Given the description of an element on the screen output the (x, y) to click on. 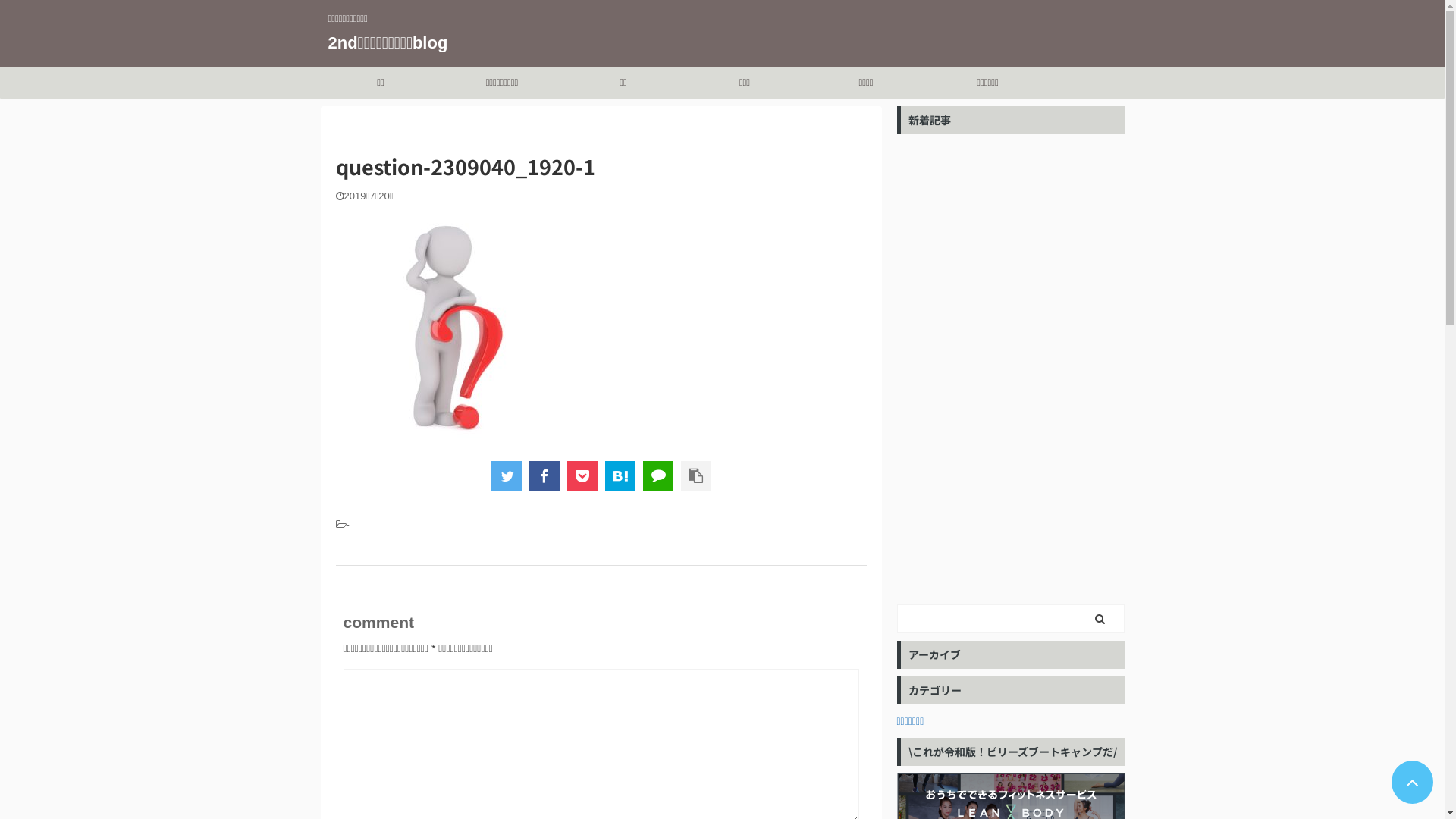
question-2309040_1920-1 Element type: hover (620, 476)
Advertisement Element type: hover (1009, 368)
